Given the description of an element on the screen output the (x, y) to click on. 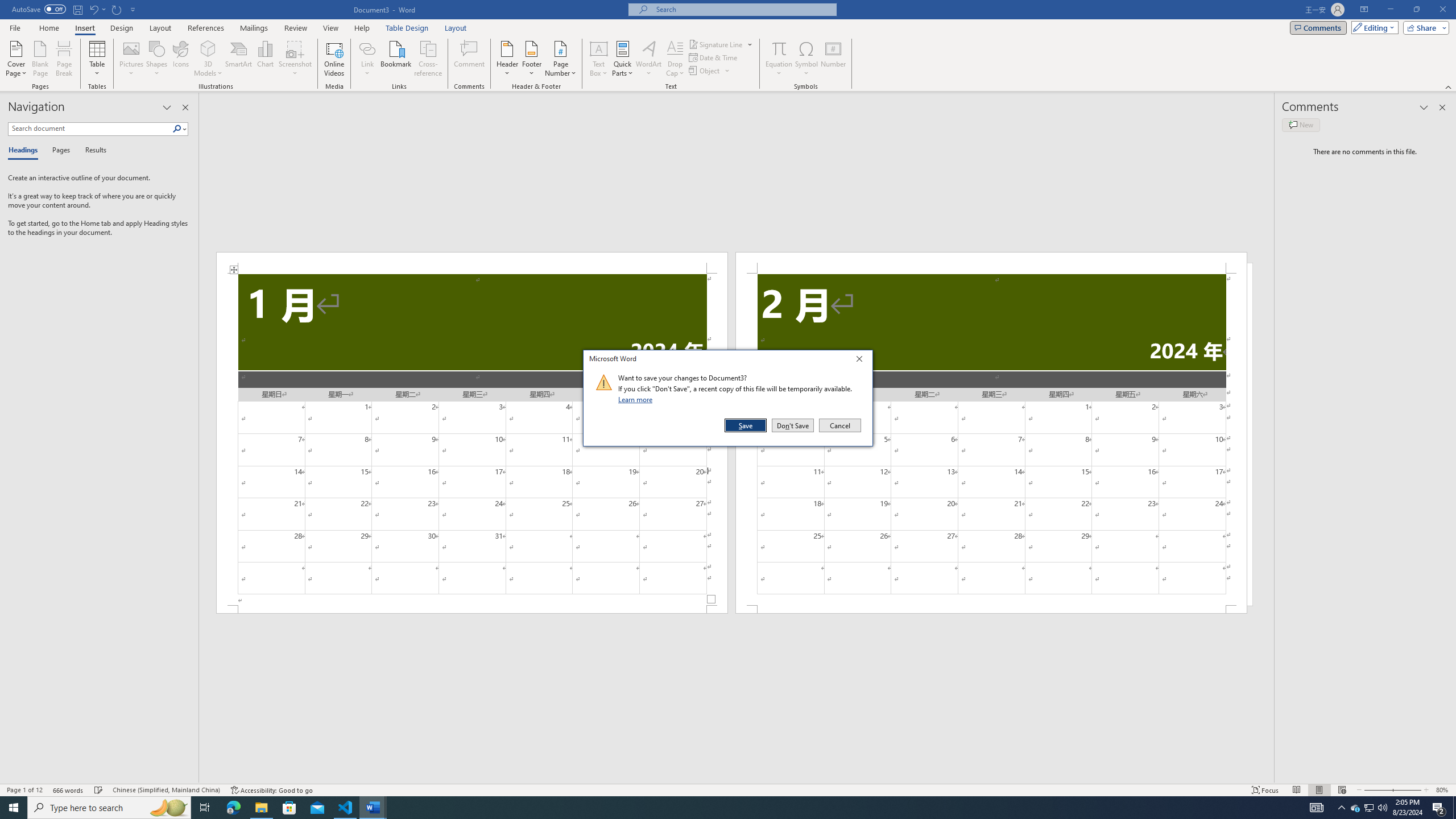
Drop Cap (674, 58)
Symbol (806, 58)
Footer -Section 2- (991, 609)
New comment (1300, 124)
Header -Section 2- (991, 263)
